Given the description of an element on the screen output the (x, y) to click on. 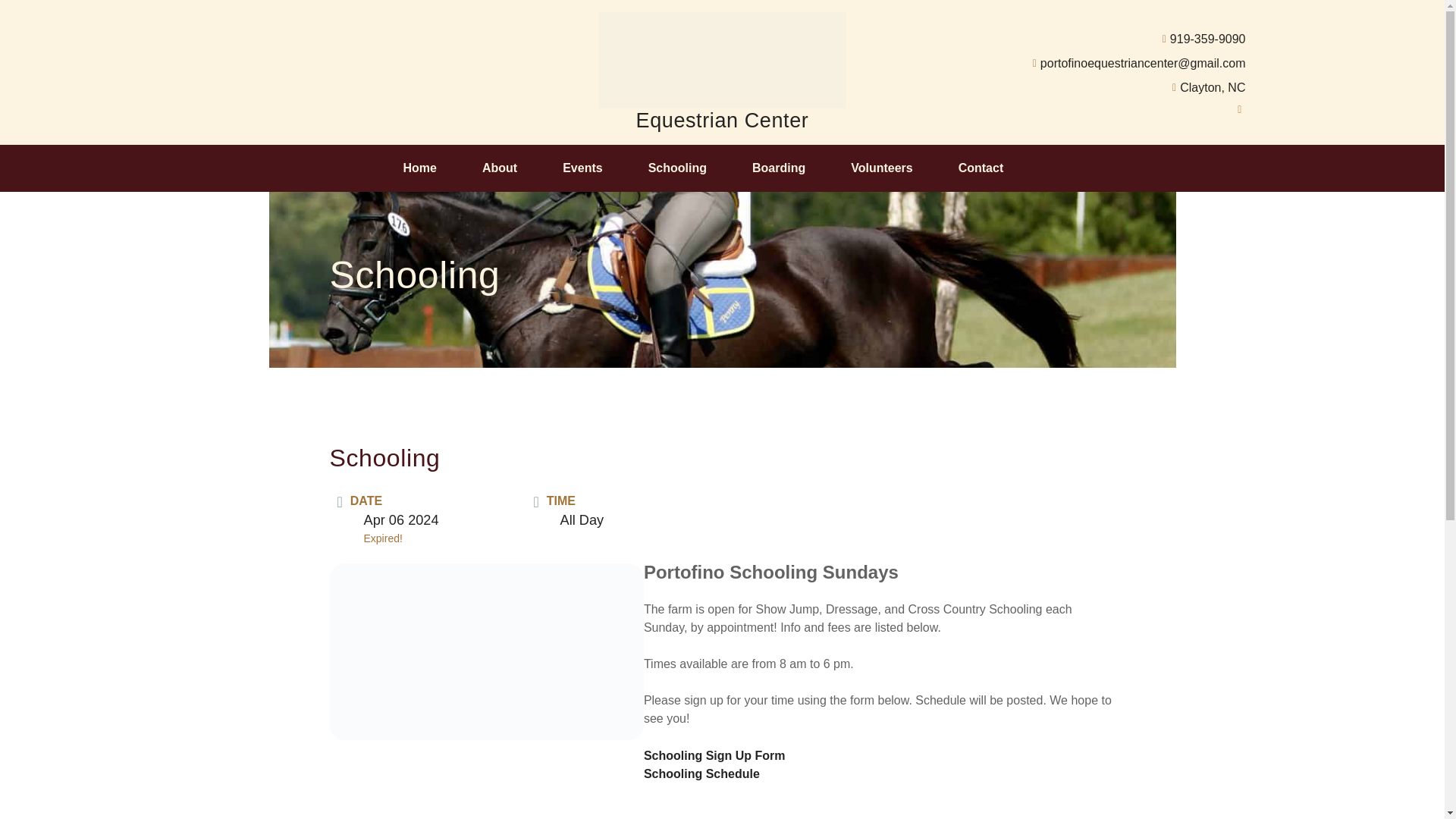
Events (582, 168)
Home (418, 168)
Volunteers (882, 168)
Contact (981, 168)
Boarding (778, 168)
Clayton, NC (1076, 87)
Schooling (677, 168)
Schooling Sign Up Form (714, 755)
About (500, 168)
919-359-9090 (1076, 39)
Schooling Schedule (701, 773)
